Given the description of an element on the screen output the (x, y) to click on. 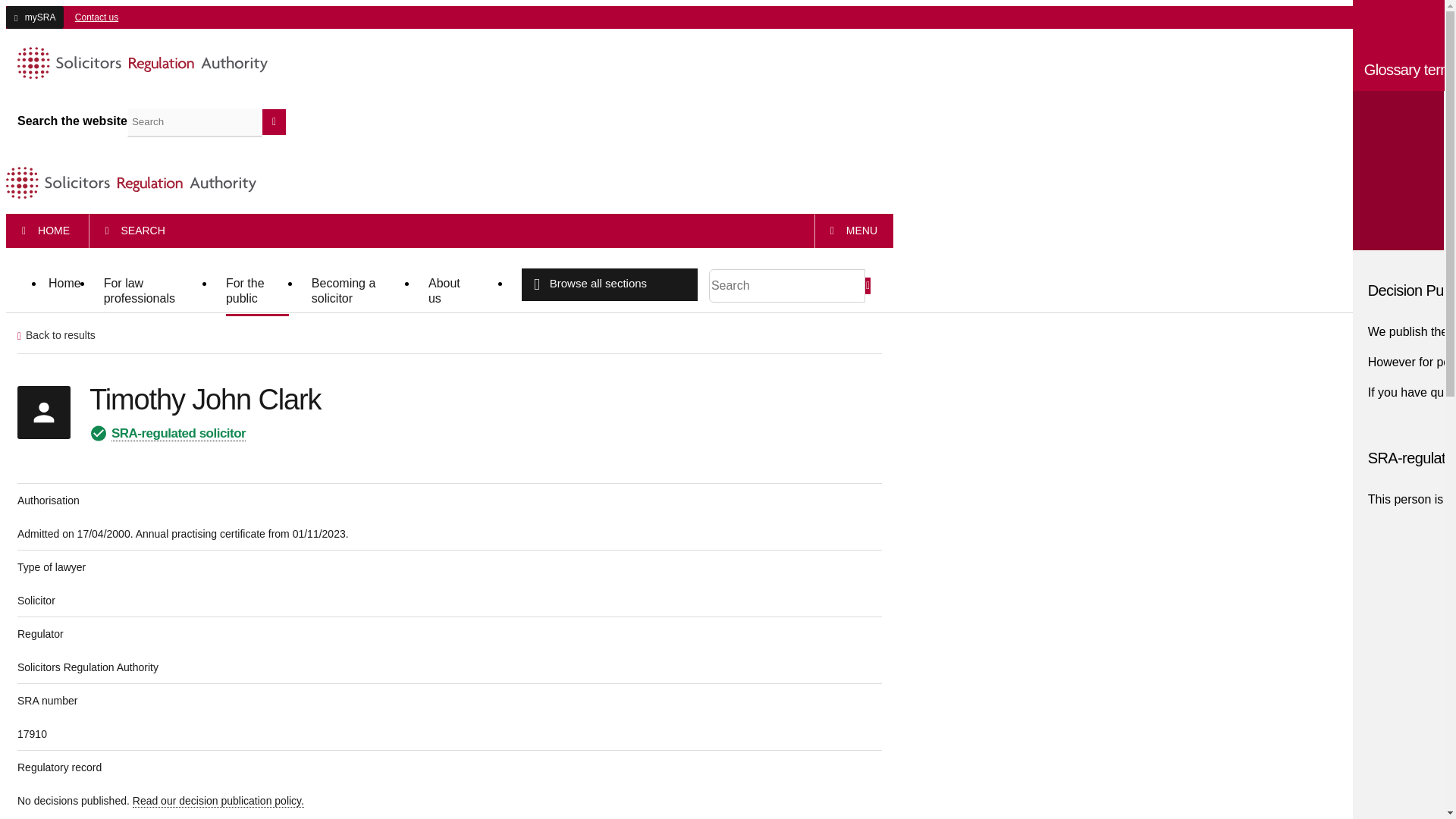
HOME (45, 230)
MENU (853, 230)
Becoming a solicitor (358, 292)
For the public (256, 292)
For the public (256, 292)
Home (64, 284)
For law professionals (153, 292)
For law professionals (153, 292)
Back to results (61, 335)
Home (64, 284)
Browse all sections (609, 284)
Contact us (91, 16)
SEARCH (134, 230)
mySRA (34, 16)
Becoming a solicitor (358, 292)
